Given the description of an element on the screen output the (x, y) to click on. 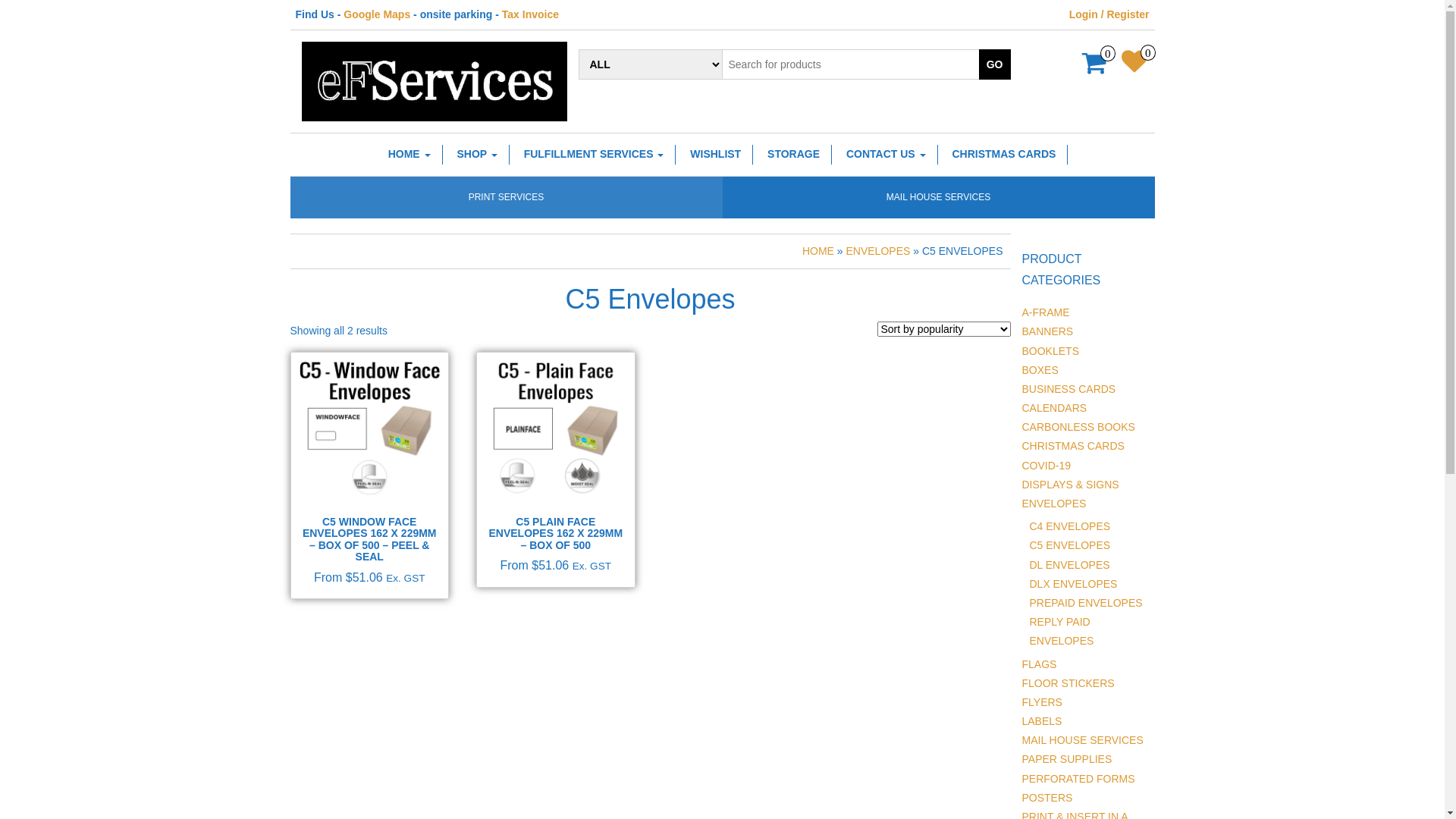
FLOOR STICKERS Element type: text (1068, 683)
0 Element type: text (1133, 63)
LABELS Element type: text (1042, 721)
MAIL HOUSE SERVICES Element type: text (938, 196)
SHOP Element type: text (476, 153)
BOXES Element type: text (1040, 370)
PRINT SERVICES Element type: text (506, 196)
GO Element type: text (994, 64)
PREPAID ENVELOPES Element type: text (1085, 602)
BUSINESS CARDS Element type: text (1069, 388)
Login / Register Element type: text (1109, 14)
C5 ENVELOPES Element type: text (1069, 545)
eFServices Element type: hover (434, 81)
HOME Element type: text (409, 153)
COVID-19 Element type: text (1046, 465)
DLX ENVELOPES Element type: text (1073, 583)
HOME Element type: text (818, 250)
CONTACT US Element type: text (886, 153)
ENVELOPES Element type: text (1054, 503)
ENVELOPES Element type: text (878, 250)
A-FRAME Element type: text (1046, 312)
FLYERS Element type: text (1042, 702)
MAIL HOUSE SERVICES Element type: text (1082, 740)
BANNERS Element type: text (1047, 331)
FULFILLMENT SERVICES Element type: text (594, 153)
WISHLIST Element type: text (715, 153)
Tax Invoice Element type: text (530, 14)
CARBONLESS BOOKS Element type: text (1078, 426)
STORAGE Element type: text (793, 153)
FLAGS Element type: text (1039, 664)
POSTERS Element type: text (1047, 797)
C4 ENVELOPES Element type: text (1069, 526)
PERFORATED FORMS Element type: text (1078, 778)
DISPLAYS & SIGNS Element type: text (1070, 484)
REPLY PAID ENVELOPES Element type: text (1061, 630)
PAPER SUPPLIES Element type: text (1067, 759)
BOOKLETS Element type: text (1050, 351)
0 Element type: text (1094, 68)
Google Maps Element type: text (376, 14)
CHRISTMAS CARDS Element type: text (1003, 153)
CHRISTMAS CARDS Element type: text (1073, 445)
DL ENVELOPES Element type: text (1069, 564)
CALENDARS Element type: text (1054, 407)
